Given the description of an element on the screen output the (x, y) to click on. 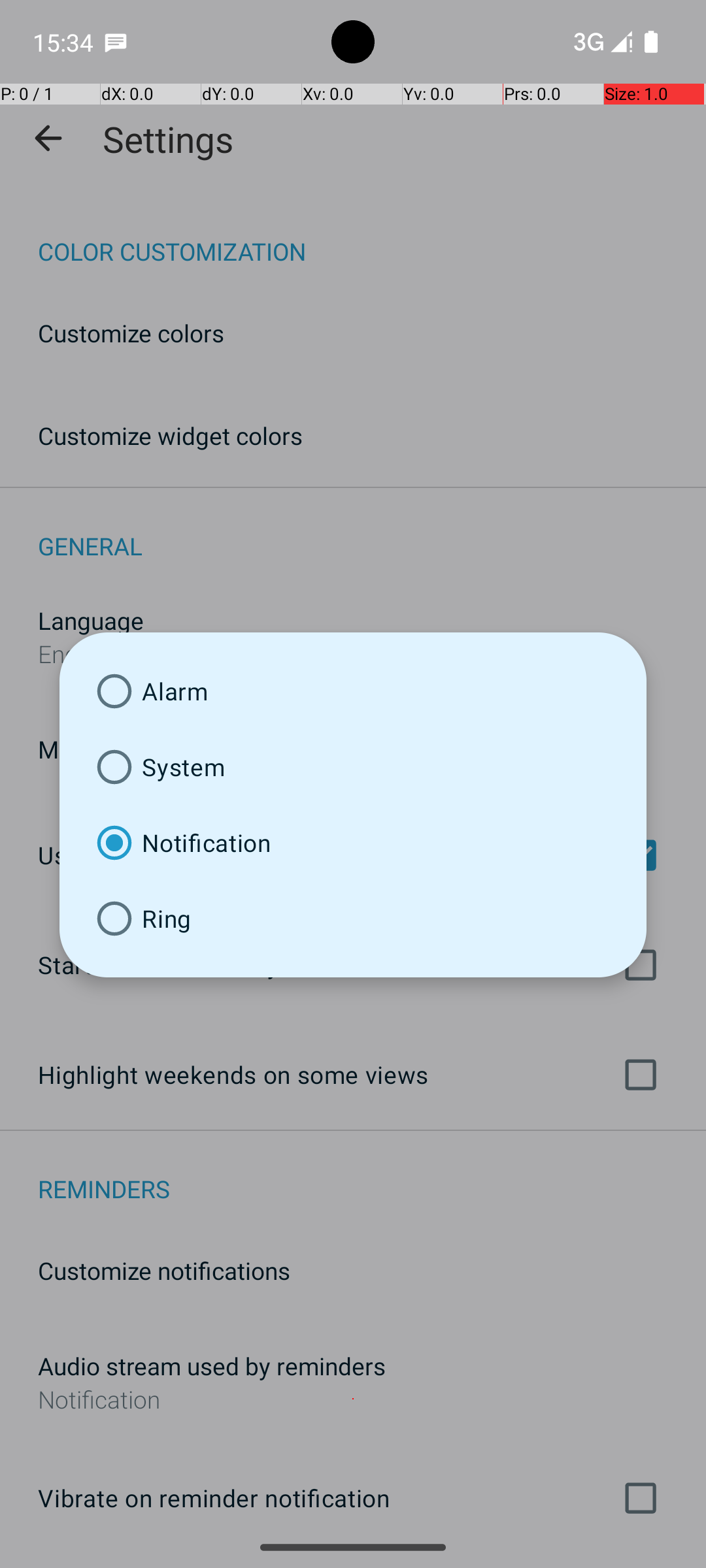
Ring Element type: android.widget.RadioButton (352, 918)
